Given the description of an element on the screen output the (x, y) to click on. 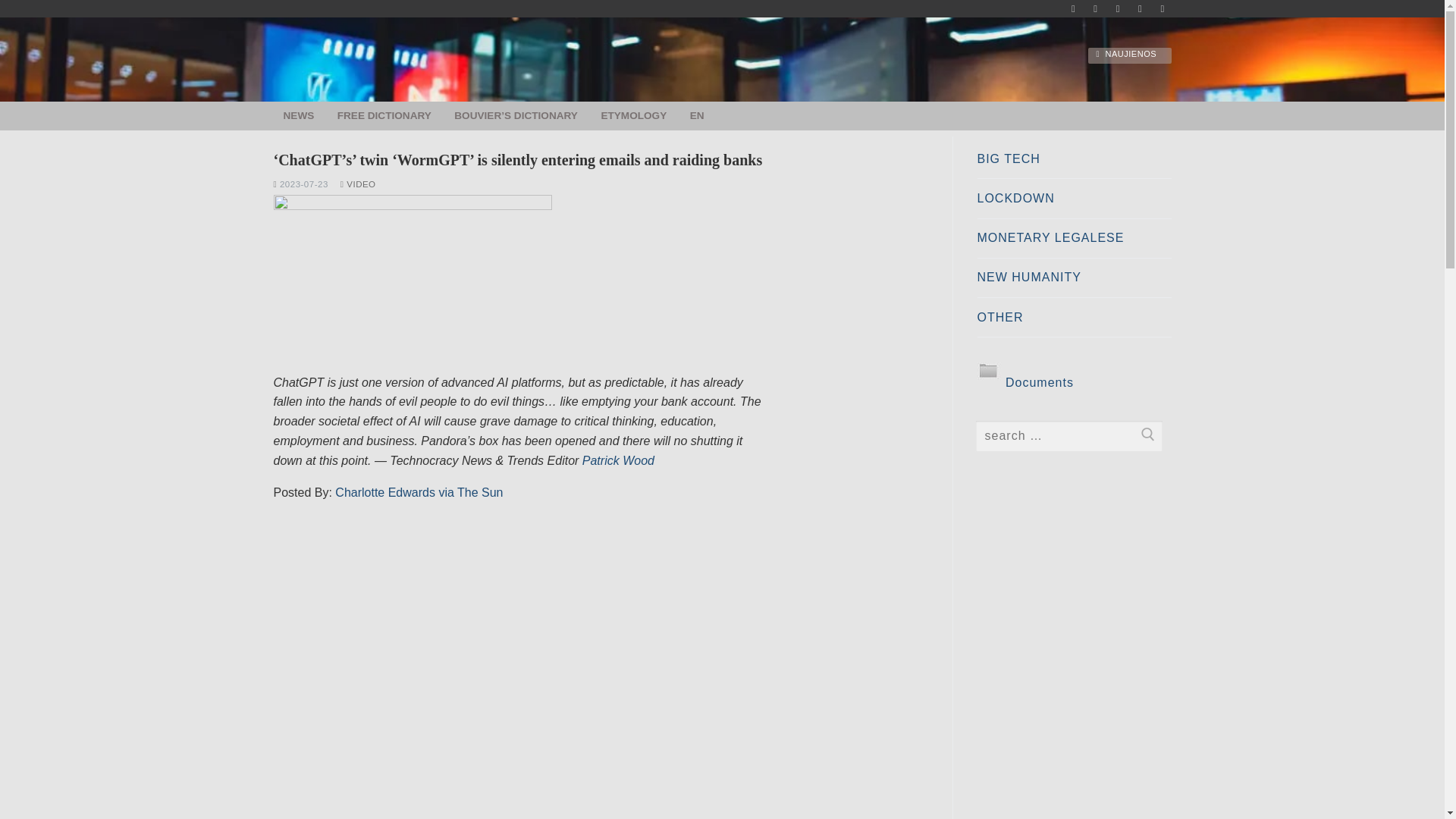
Charlotte Edwards via The Sun (418, 492)
BIG TECH (1073, 163)
FREE DICTIONARY (384, 115)
VIDEO (357, 184)
NAUJIENOS (1128, 55)
LOCKDOWN (1073, 202)
NEWS (298, 115)
online radio (1139, 8)
Music (1073, 8)
Patrick Wood (617, 460)
English (696, 115)
EN (696, 115)
2023-07-23 (300, 184)
ETYMOLOGY (634, 115)
info (1117, 8)
